Given the description of an element on the screen output the (x, y) to click on. 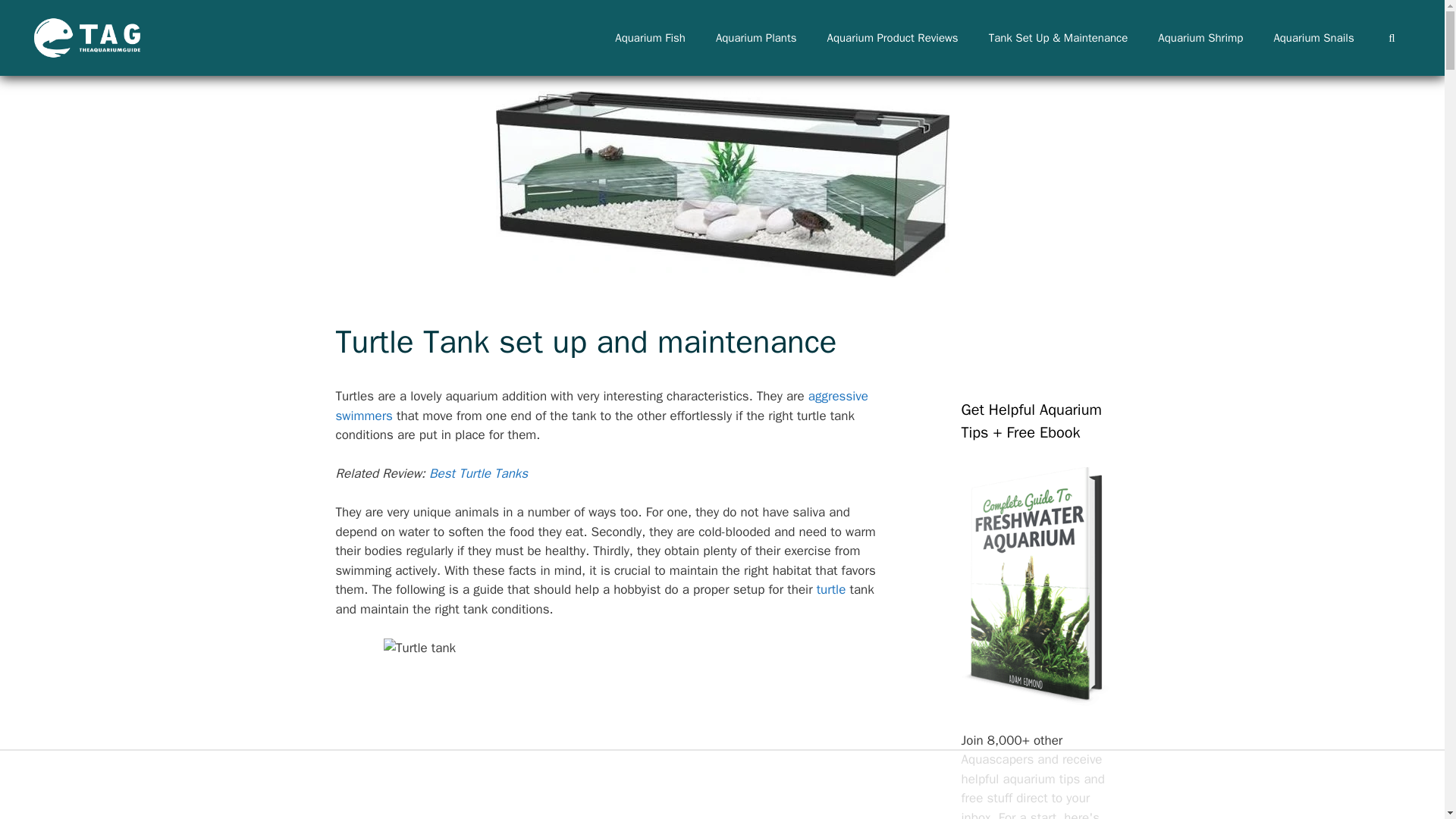
turtle (830, 589)
Aquarium Product Reviews (893, 37)
Aquarium Fish (649, 37)
Aquarium Plants (756, 37)
Aquarium Shrimp (1199, 37)
Best Turtle Tanks (478, 473)
aggressive swimmers (600, 406)
Aquarium Snails (1312, 37)
